Given the description of an element on the screen output the (x, y) to click on. 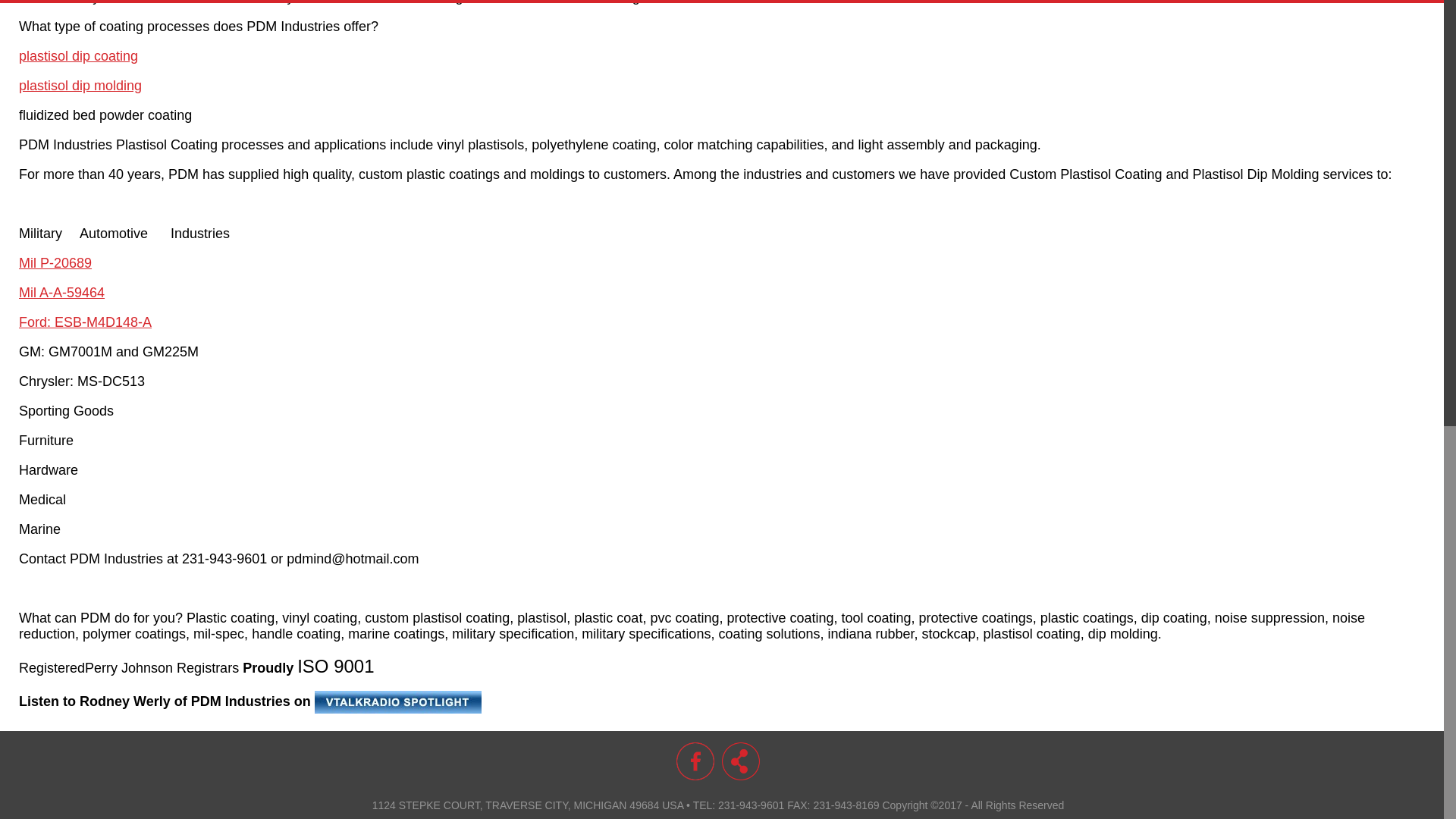
plastisol dip coating (78, 55)
Mil A-A-59464 (61, 292)
plastisol dip molding (79, 85)
Mil P-20689 (54, 263)
Ford: ESB-M4D148-A (84, 322)
